Given the description of an element on the screen output the (x, y) to click on. 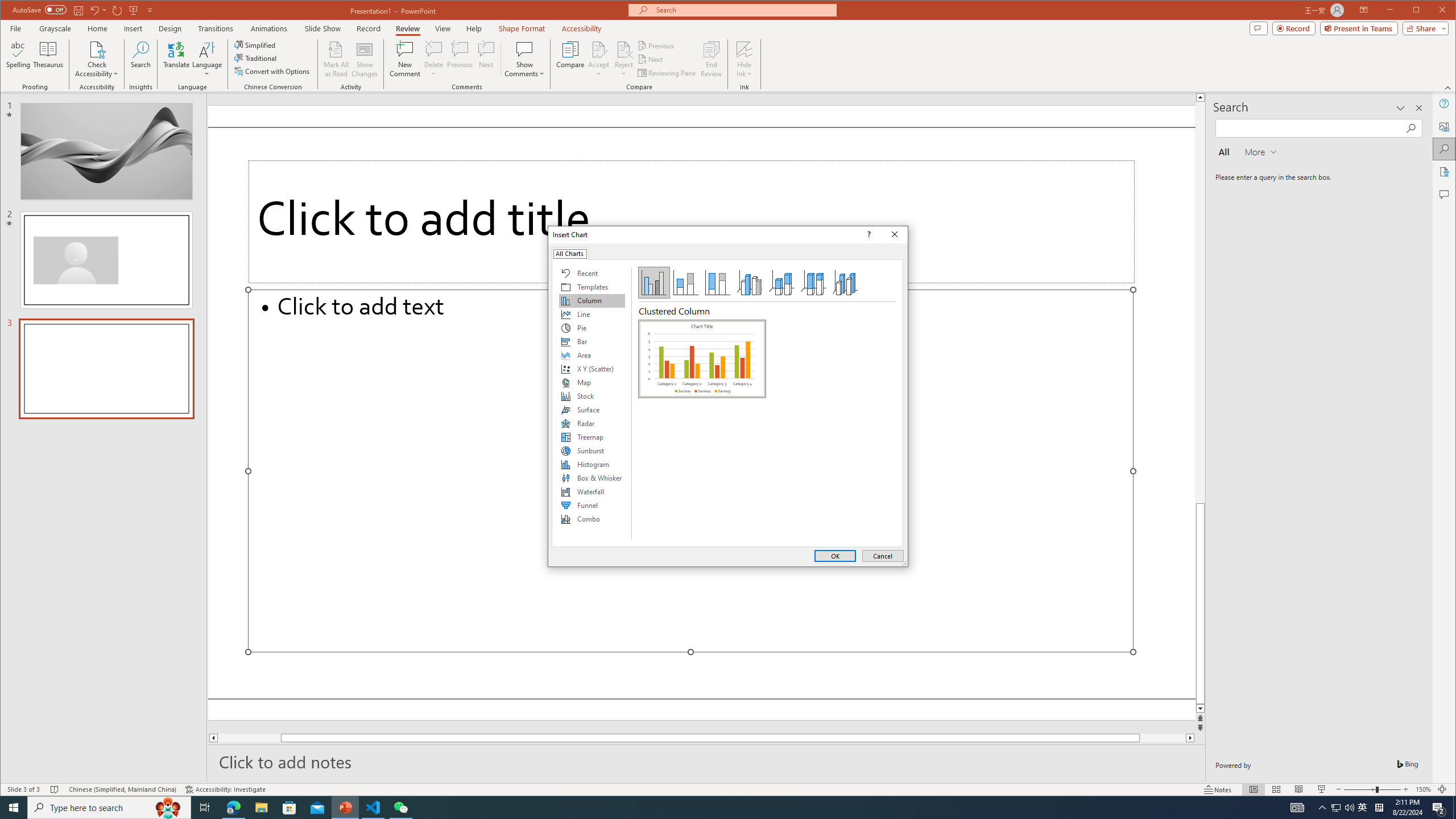
Thesaurus... (48, 59)
Bar (591, 341)
Templates (591, 287)
OK (834, 555)
Map (591, 382)
All Charts (569, 253)
